Given the description of an element on the screen output the (x, y) to click on. 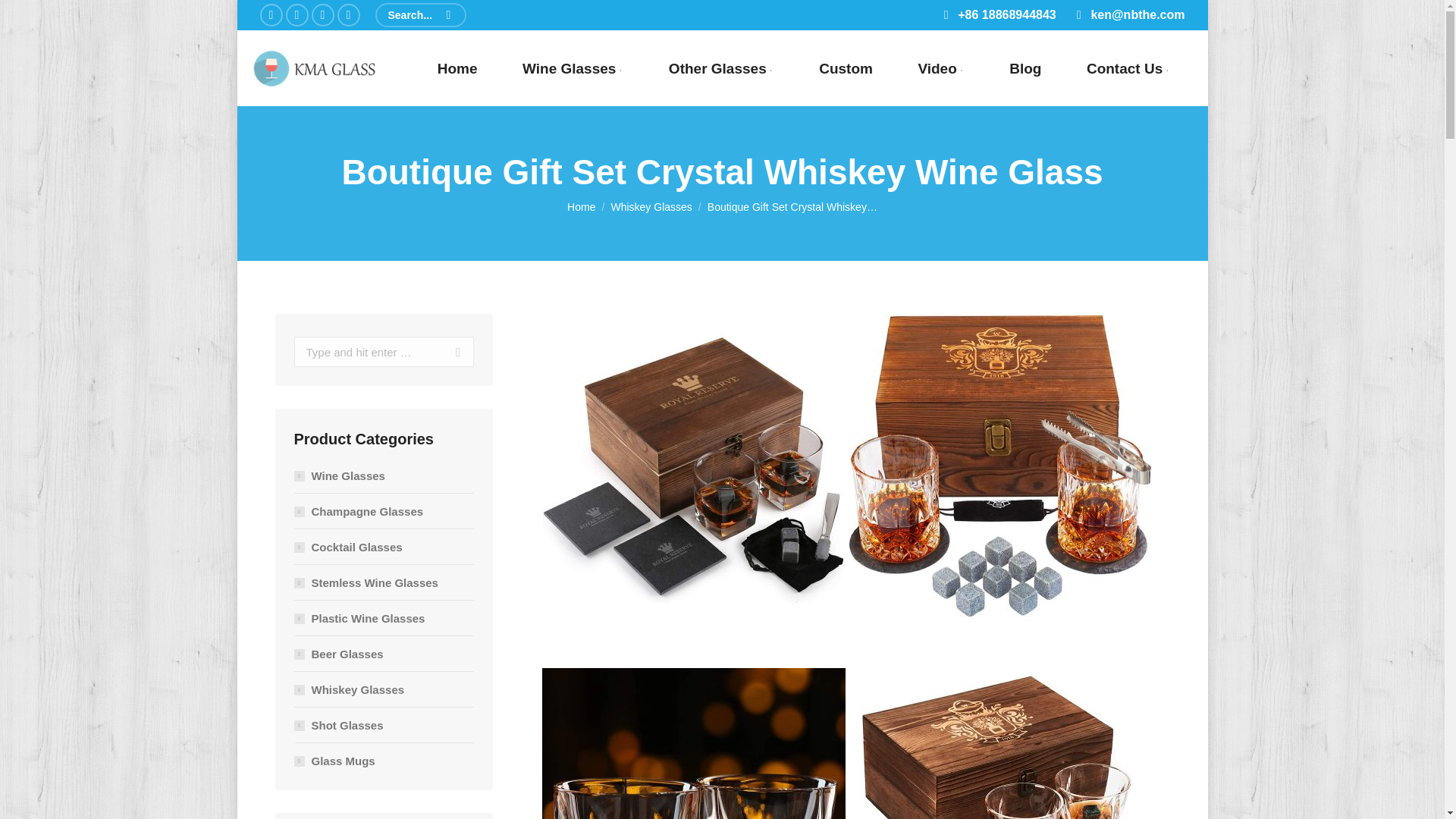
Go! (442, 351)
Wine Glasses (573, 68)
Pinterest page opens in new window (347, 15)
Pinterest page opens in new window (347, 15)
Twitter page opens in new window (296, 15)
Go! (442, 351)
Twitter page opens in new window (296, 15)
Blog (1025, 68)
Video (941, 68)
Facebook page opens in new window (270, 15)
Custom (845, 68)
Dribbble page opens in new window (322, 15)
Home (456, 68)
Go! (32, 16)
Other Glasses (721, 68)
